Given the description of an element on the screen output the (x, y) to click on. 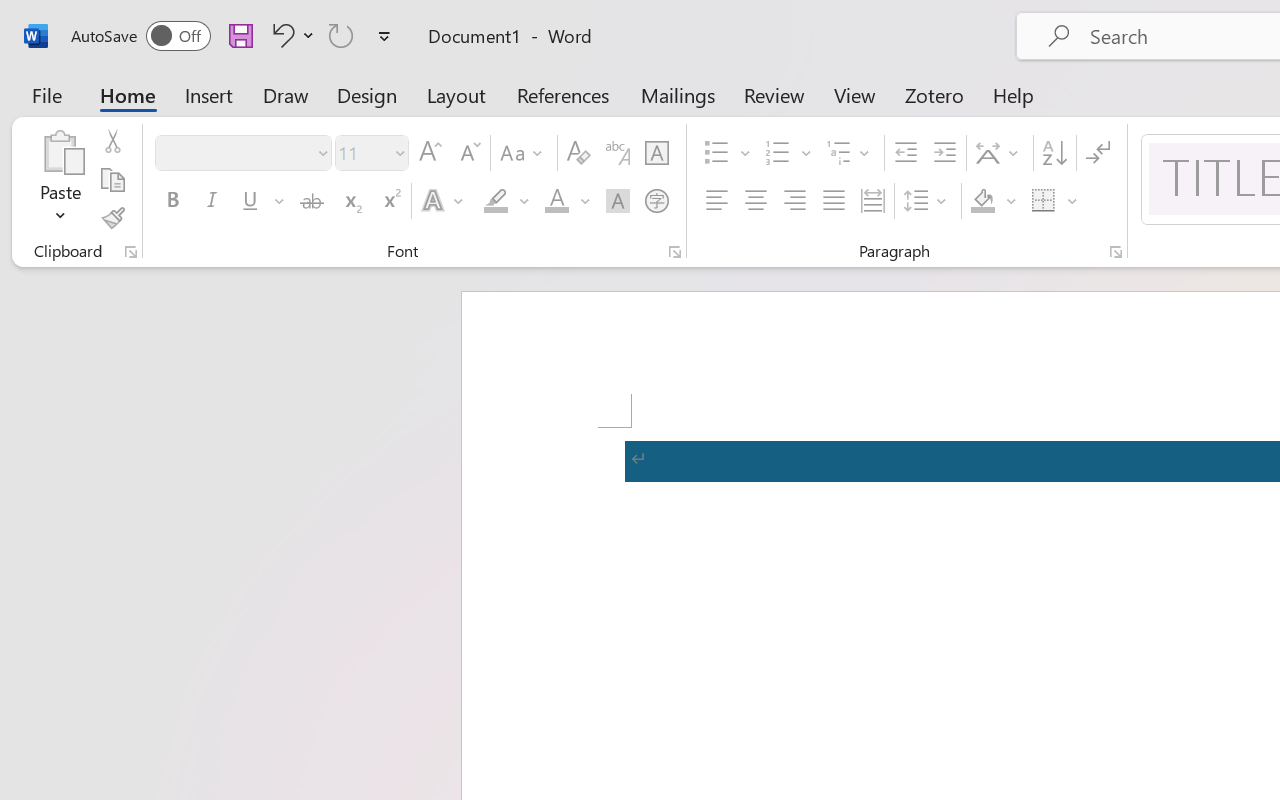
Shading No Color (982, 201)
